Given the description of an element on the screen output the (x, y) to click on. 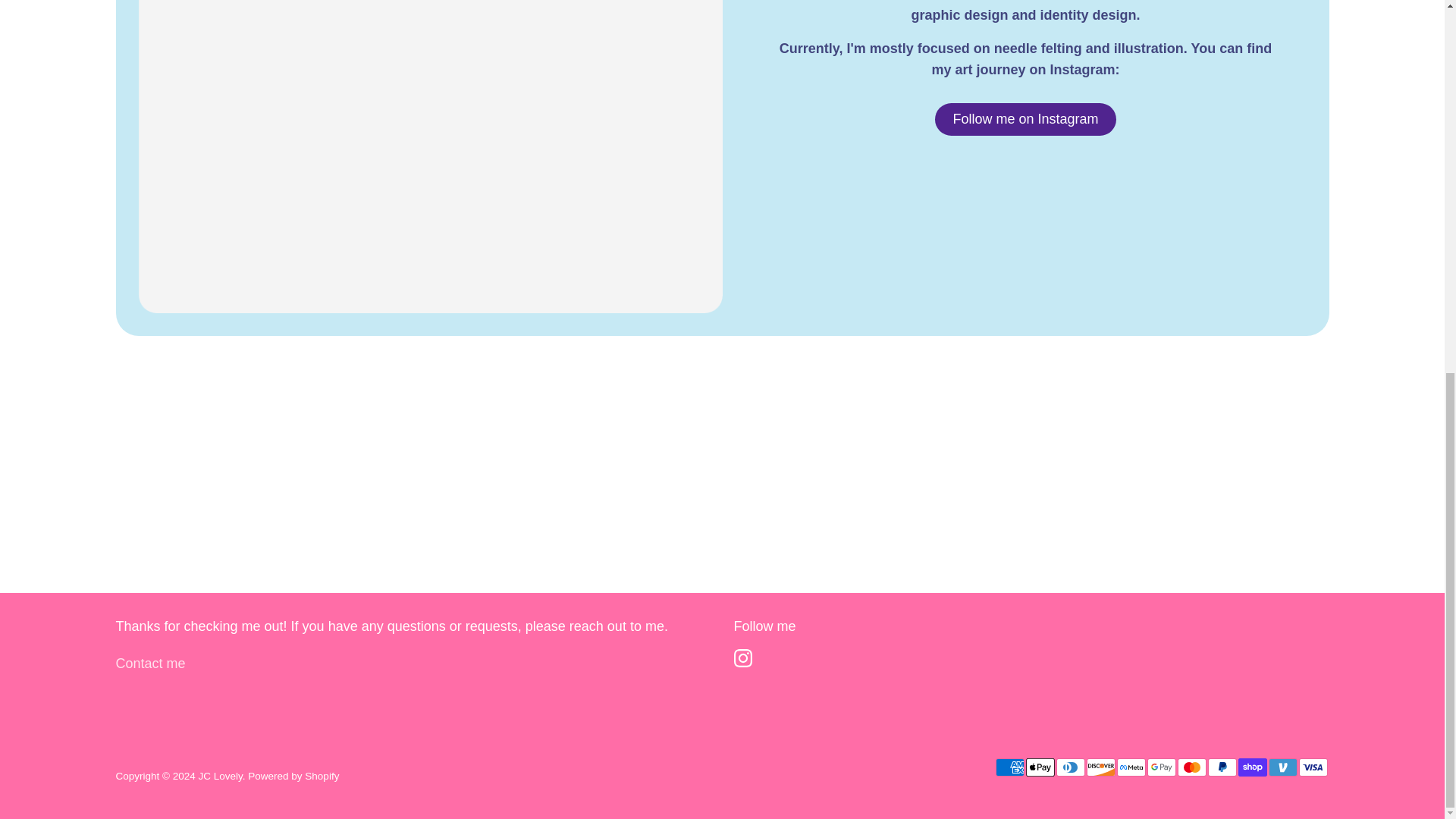
Shop Pay (1251, 767)
Apple Pay (1039, 767)
Mastercard (1190, 767)
Discover (1100, 767)
PayPal (1221, 767)
Venmo (1282, 767)
Diners Club (1069, 767)
Google Pay (1160, 767)
Meta Pay (1130, 767)
Visa (1312, 767)
American Express (1008, 767)
